Given the description of an element on the screen output the (x, y) to click on. 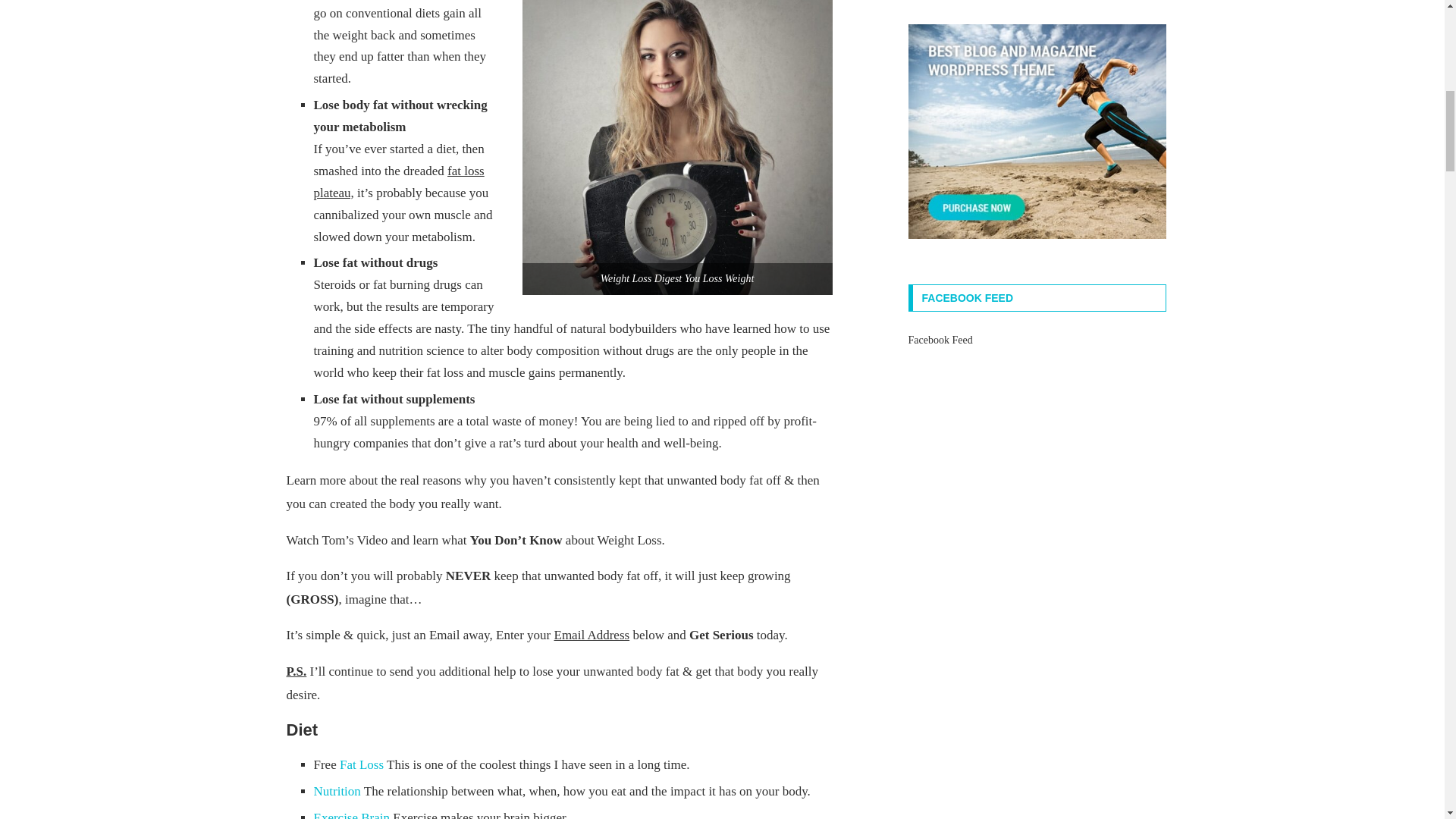
Exercise makes your brain bigger. (352, 814)
Nutrition (337, 790)
Fat Loss (361, 764)
